Given the description of an element on the screen output the (x, y) to click on. 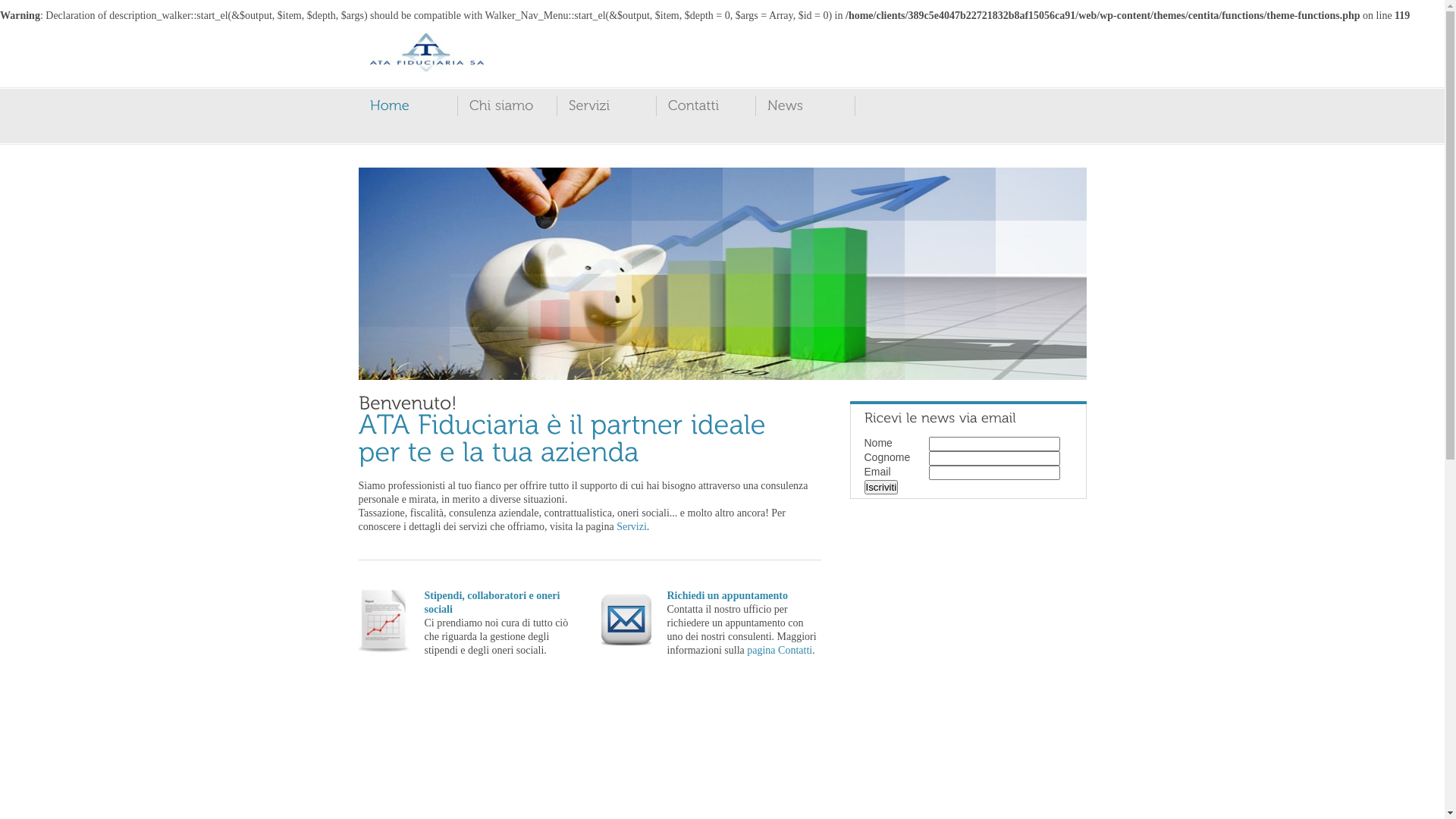
3 Element type: text (713, 363)
Stipendi, collaboratori e oneri sociali Element type: text (492, 602)
1 Element type: text (689, 363)
Consulenza aziendale mirata Element type: hover (721, 273)
Iscriviti Element type: text (881, 487)
Servizi Element type: text (631, 526)
Richiedi un appuntamento Element type: text (727, 595)
pagina Contatti Element type: text (779, 649)
2 Element type: text (701, 363)
